Given the description of an element on the screen output the (x, y) to click on. 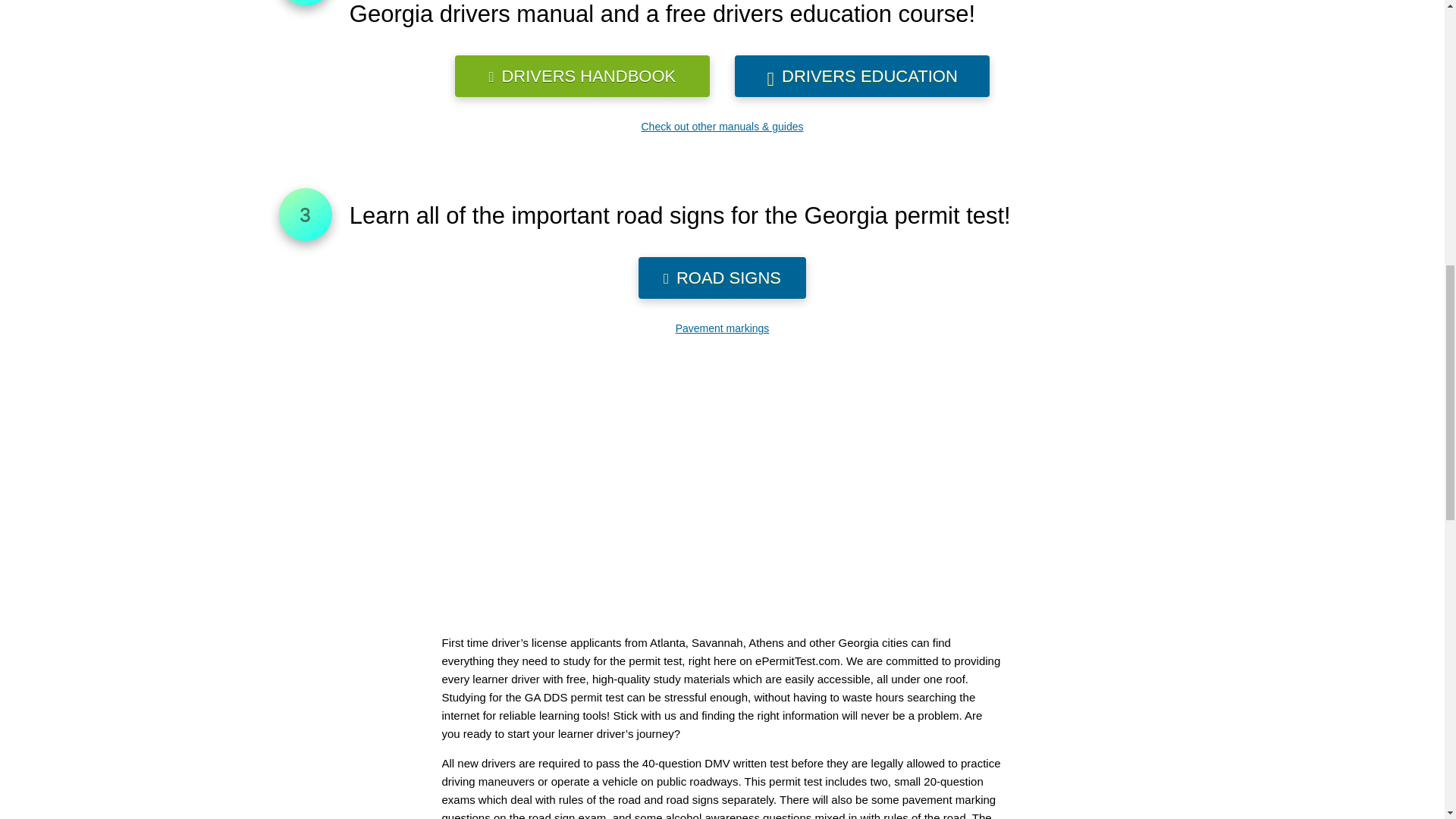
Pavement markings (722, 328)
Georgia Drivers Education (862, 76)
Georgia Pavement markings (722, 328)
ROAD SIGNS (722, 277)
DRIVERS HANDBOOK (582, 76)
Georgia Road Signs (722, 277)
Georgia drivers manual (582, 76)
DRIVERS EDUCATION (862, 76)
